Given the description of an element on the screen output the (x, y) to click on. 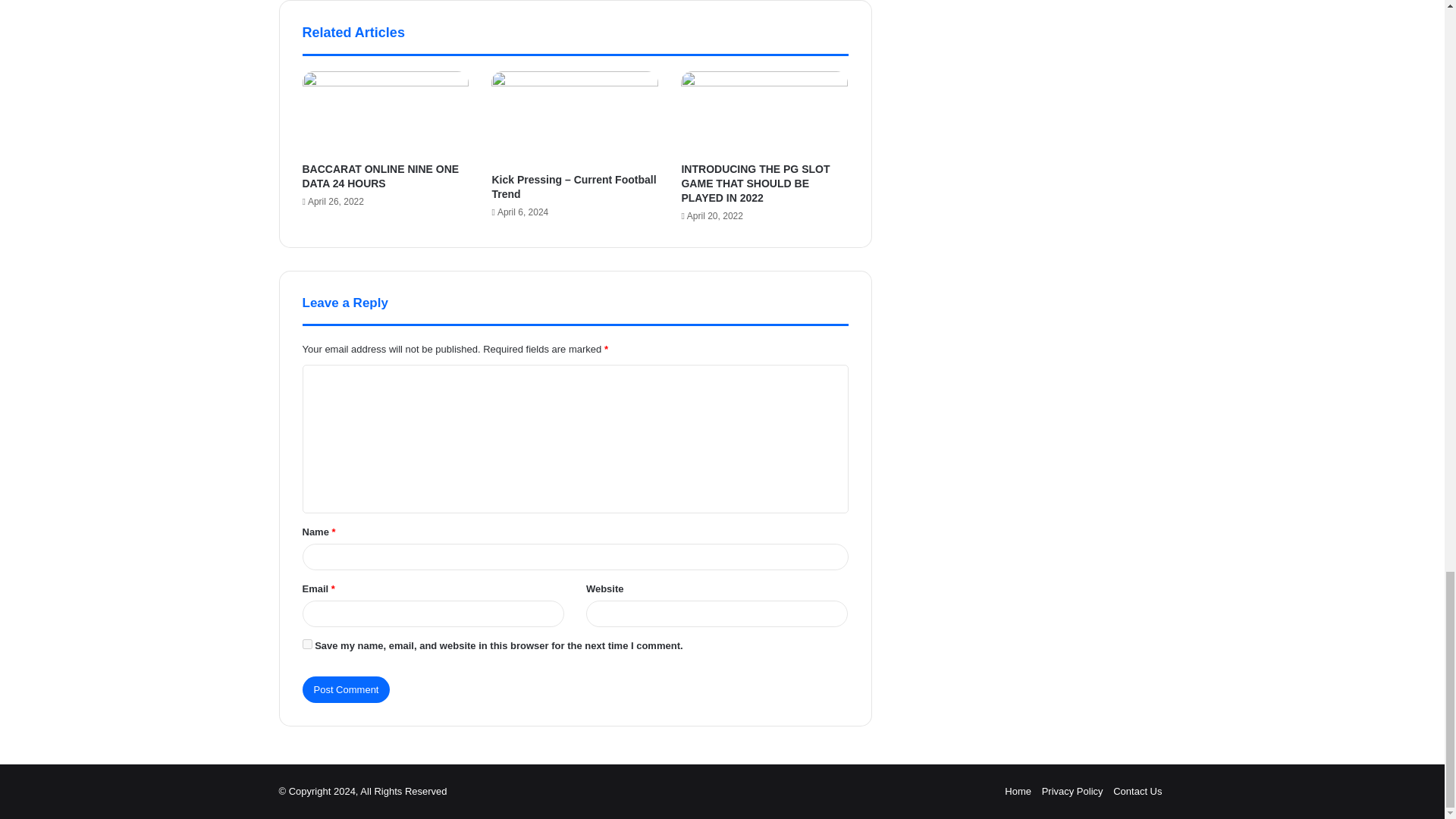
yes (306, 644)
BACCARAT ONLINE NINE ONE DATA 24 HOURS (379, 175)
Post Comment (345, 689)
